Given the description of an element on the screen output the (x, y) to click on. 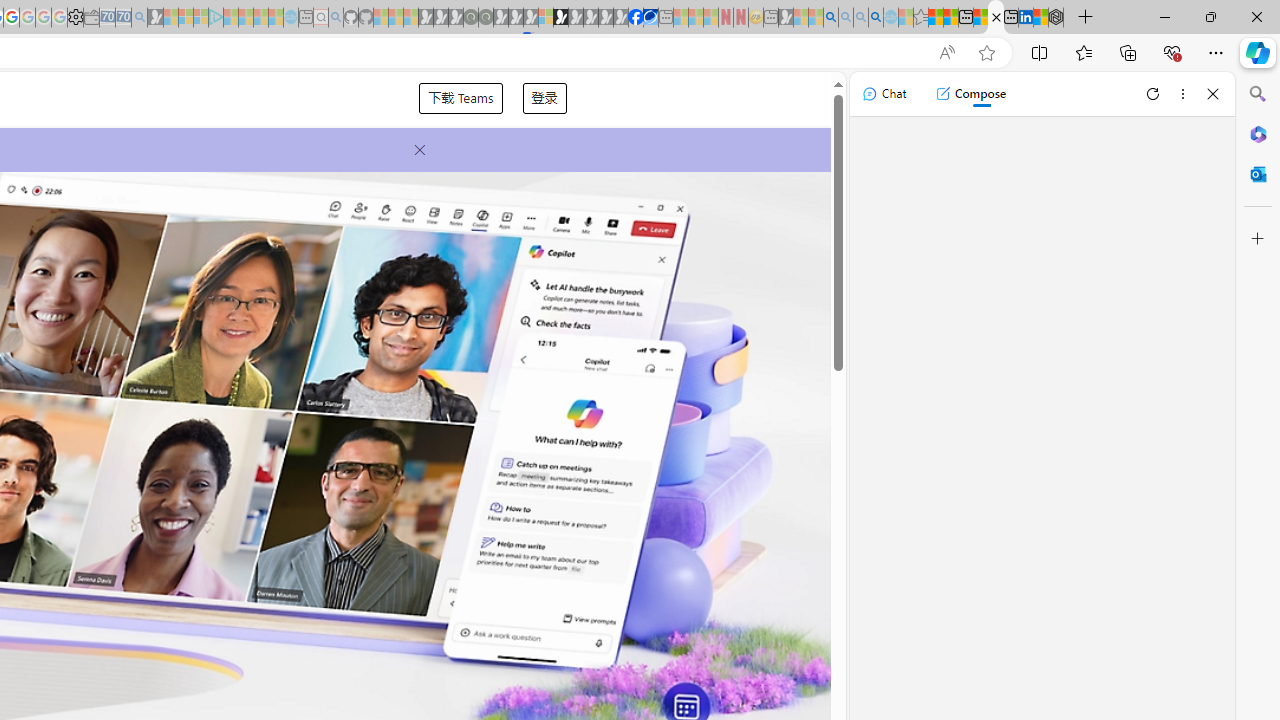
github - Search - Sleeping (336, 17)
Sign in to your account - Sleeping (545, 17)
Nordace | Facebook (635, 17)
